Given the description of an element on the screen output the (x, y) to click on. 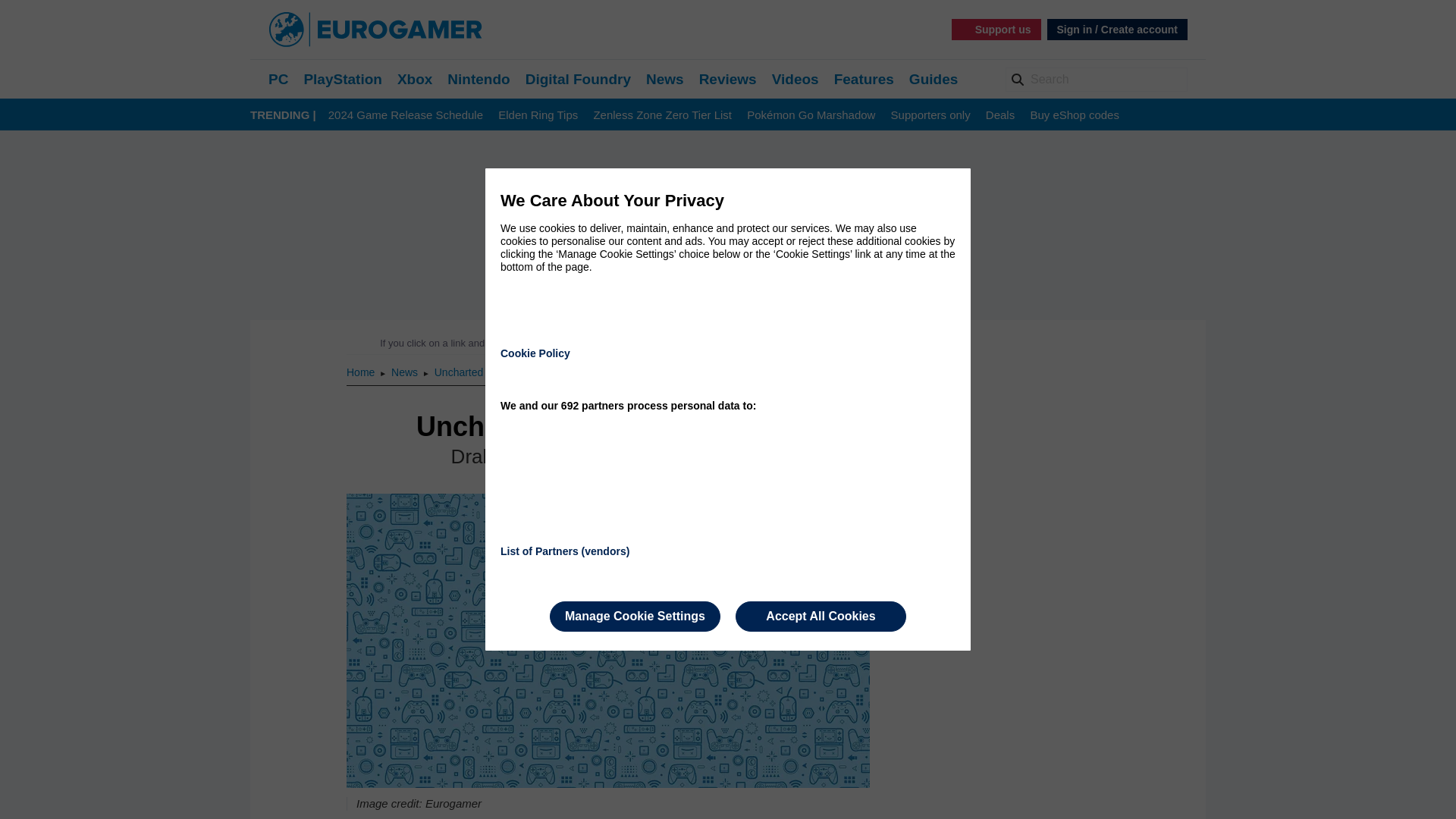
Xbox (414, 78)
Support us (996, 29)
Guides (933, 78)
Supporters only (931, 114)
Uncharted 2: Among Thieves (501, 372)
News (405, 372)
Xbox (414, 78)
Zenless Zone Zero Tier List (662, 114)
Buy eShop codes (1074, 114)
Zenless Zone Zero Tier List (662, 114)
Reviews (727, 78)
Supporters only (931, 114)
2024 Game Release Schedule (406, 114)
Elden Ring Tips (537, 114)
Digital Foundry (577, 78)
